Given the description of an element on the screen output the (x, y) to click on. 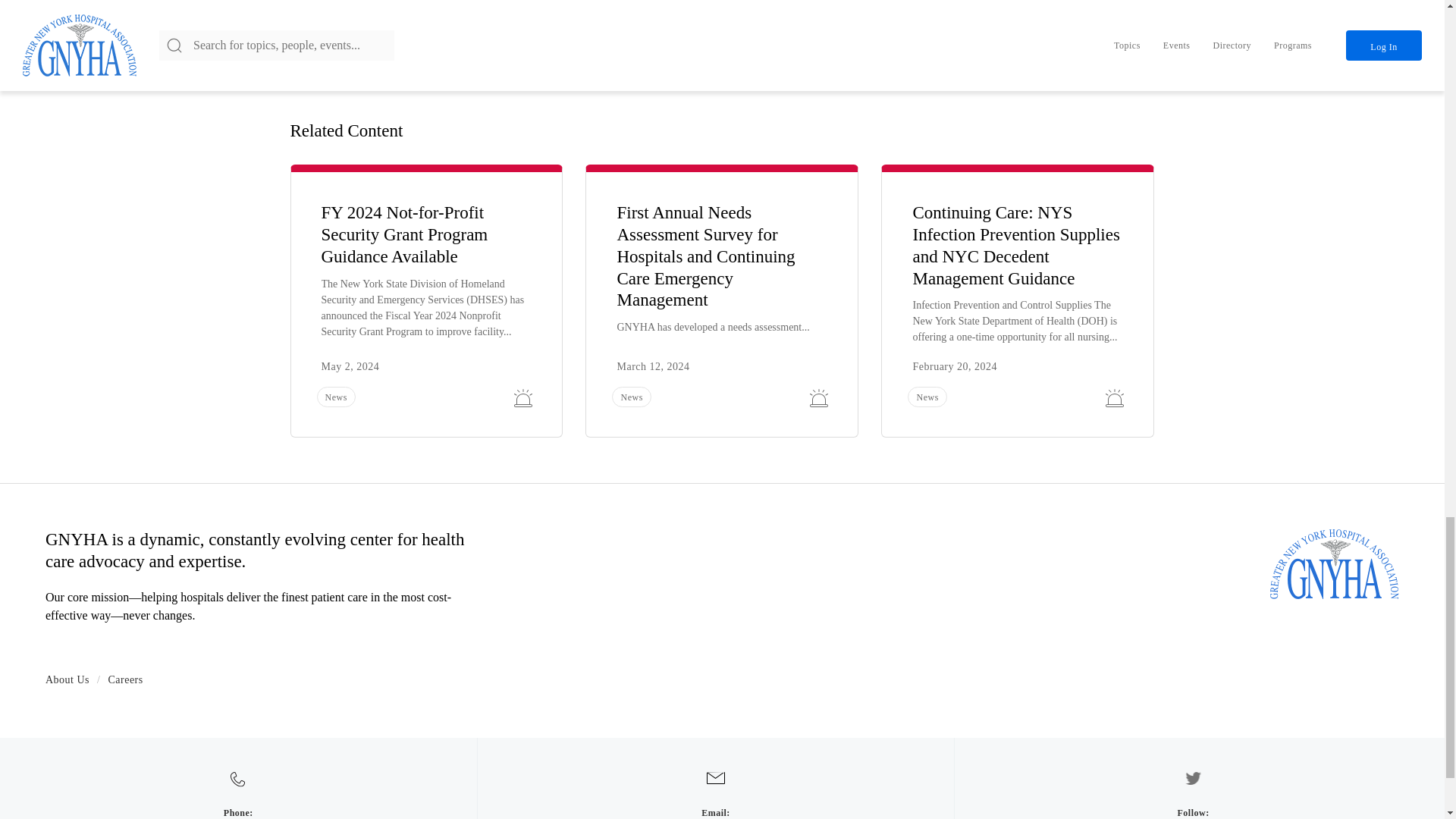
Emergency Icon (1114, 398)
About Us (66, 679)
Emergency Icon (522, 398)
Careers (124, 679)
Home (1334, 563)
Emergency Icon (818, 398)
